Given the description of an element on the screen output the (x, y) to click on. 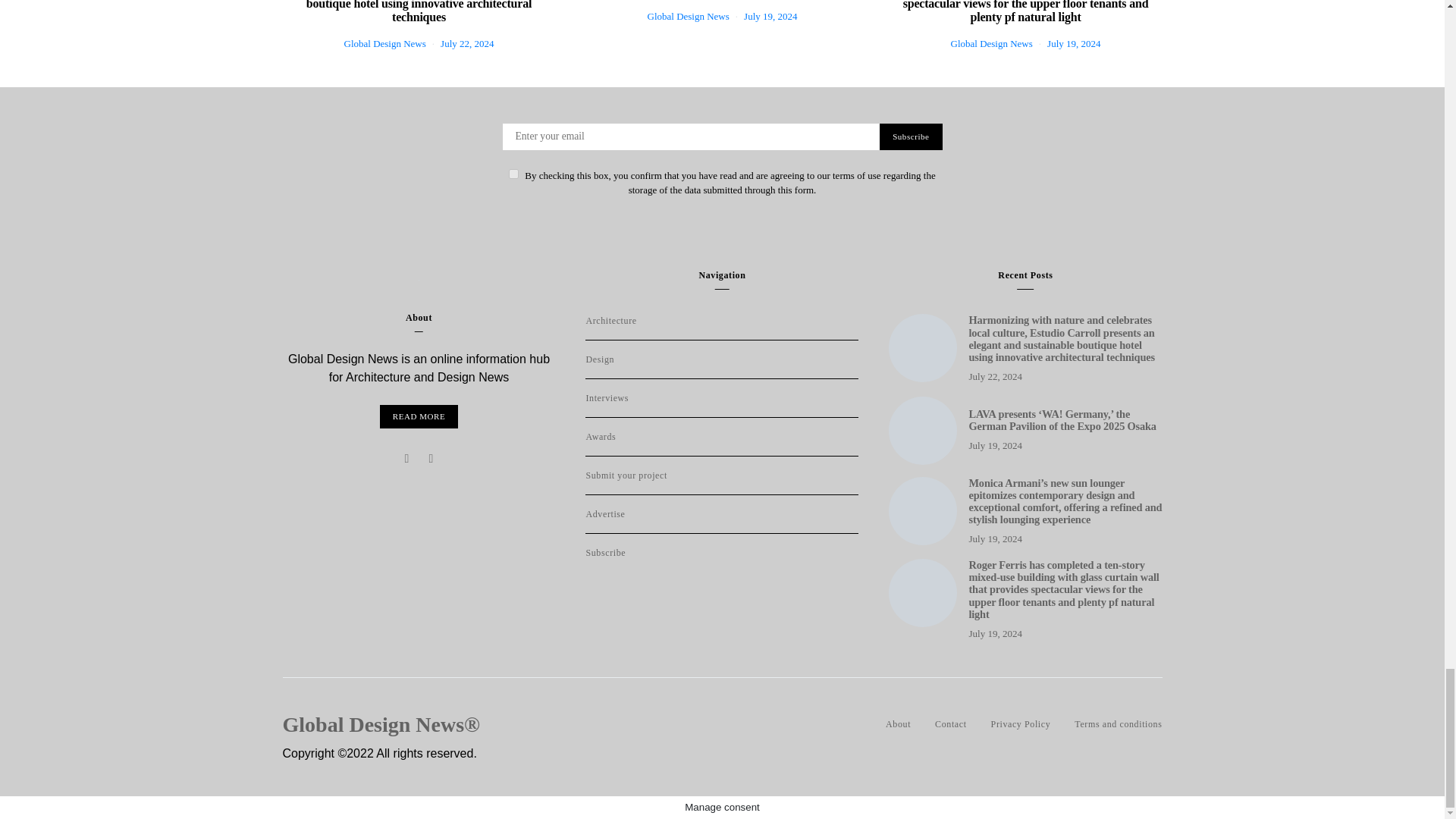
View all posts by Global Design News (688, 16)
on (513, 173)
View all posts by Global Design News (384, 43)
View all posts by Global Design News (991, 43)
